Given the description of an element on the screen output the (x, y) to click on. 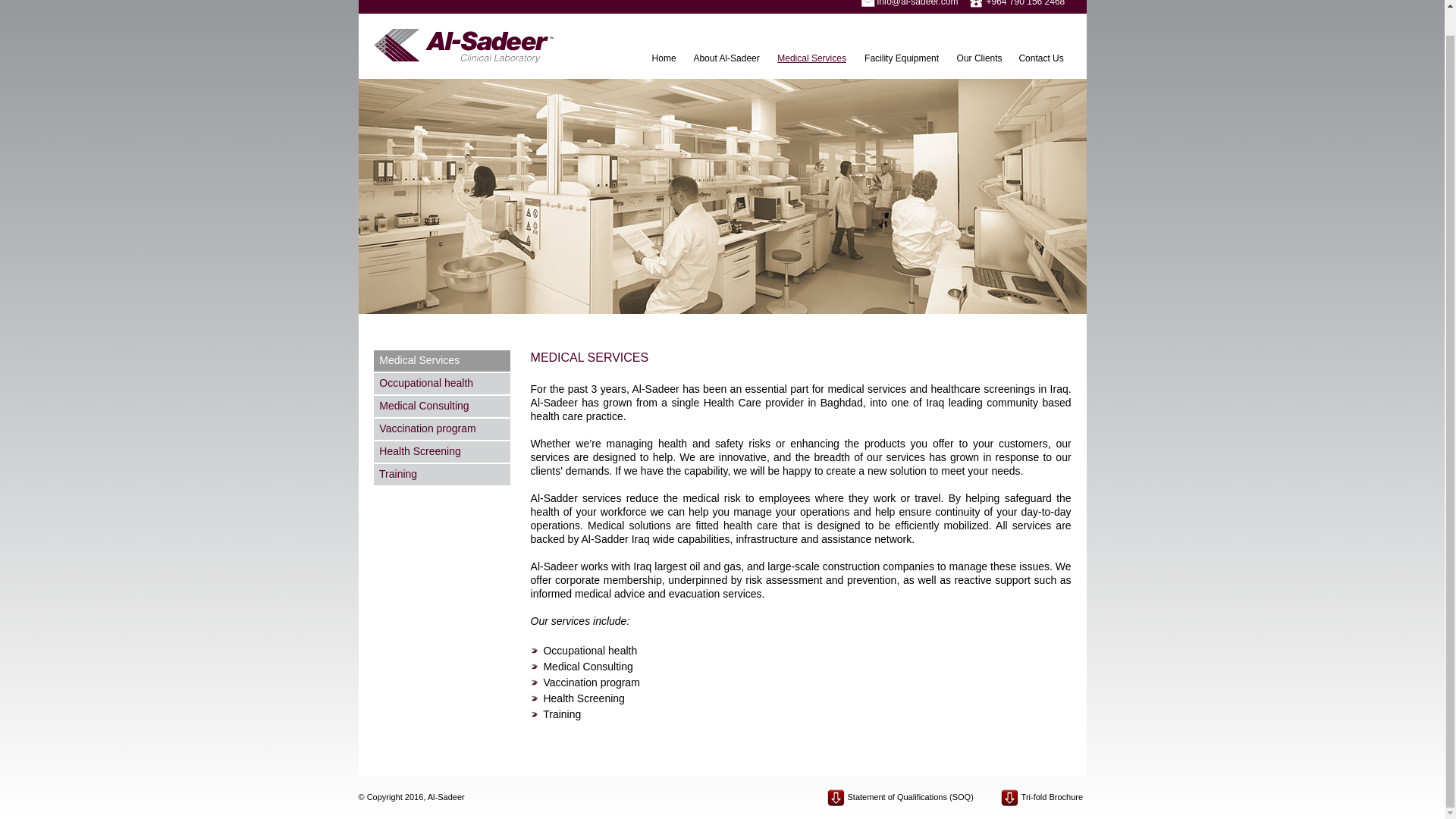
  Health Screening (442, 451)
  Medical Services (442, 360)
Our Clients (979, 58)
Facility Equipment (902, 58)
  Medical Consulting (442, 405)
  Occupational health (442, 383)
  Vaccination program (442, 428)
Medical Services (813, 58)
Home (664, 58)
  Training (442, 474)
